Given the description of an element on the screen output the (x, y) to click on. 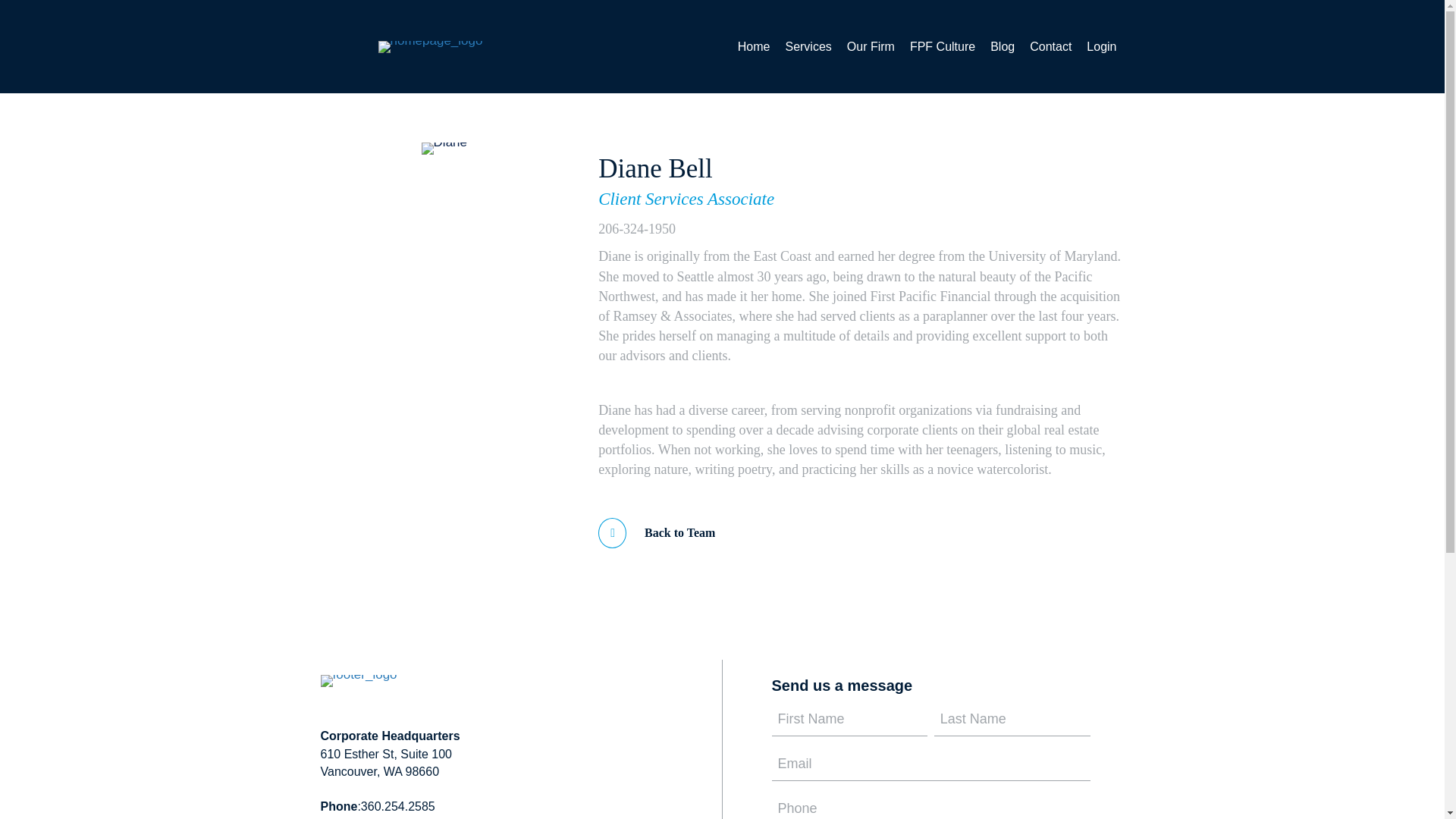
Services (807, 46)
Back to Team (656, 531)
Contact (1050, 46)
Diane (444, 148)
Login (1101, 46)
FPF Culture (942, 46)
360.254.2585 (398, 806)
Home (753, 46)
Our Firm (871, 46)
Blog (1002, 46)
